Given the description of an element on the screen output the (x, y) to click on. 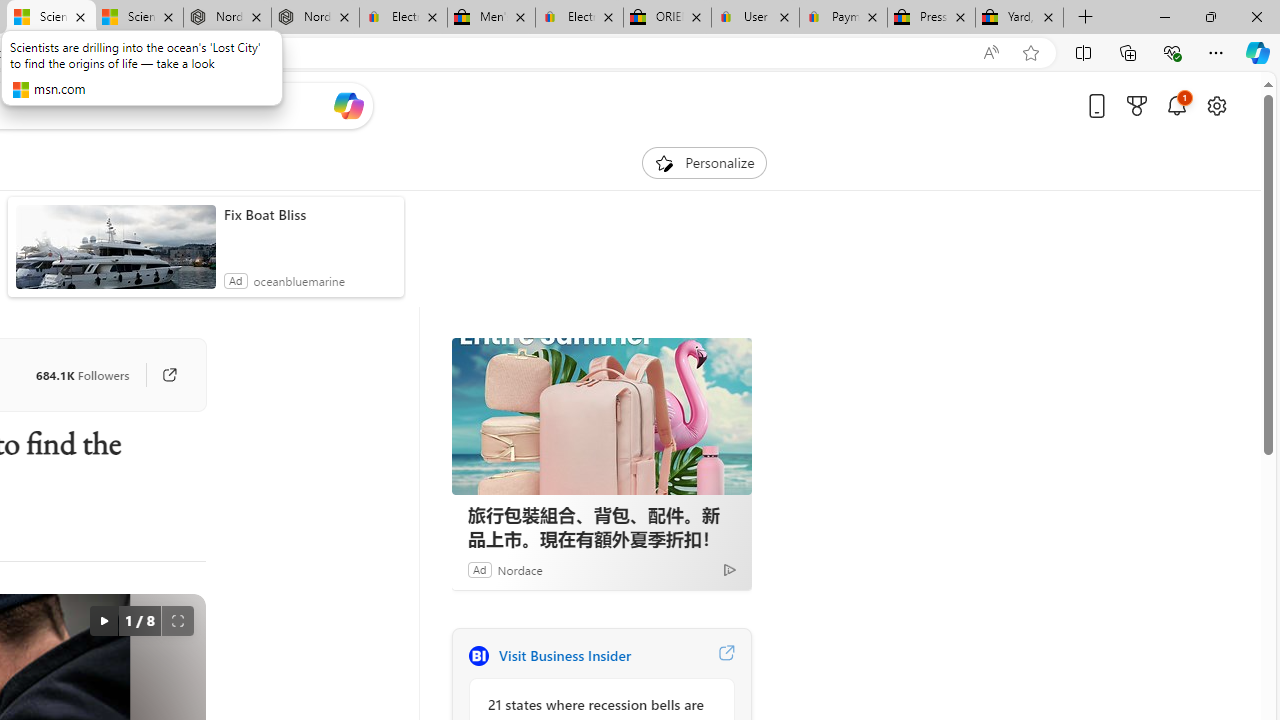
Visit Business Insider website (726, 655)
anim-content (115, 255)
Business Insider (478, 655)
Nordace - Summer Adventures 2024 (227, 17)
Personalize (703, 162)
